Given the description of an element on the screen output the (x, y) to click on. 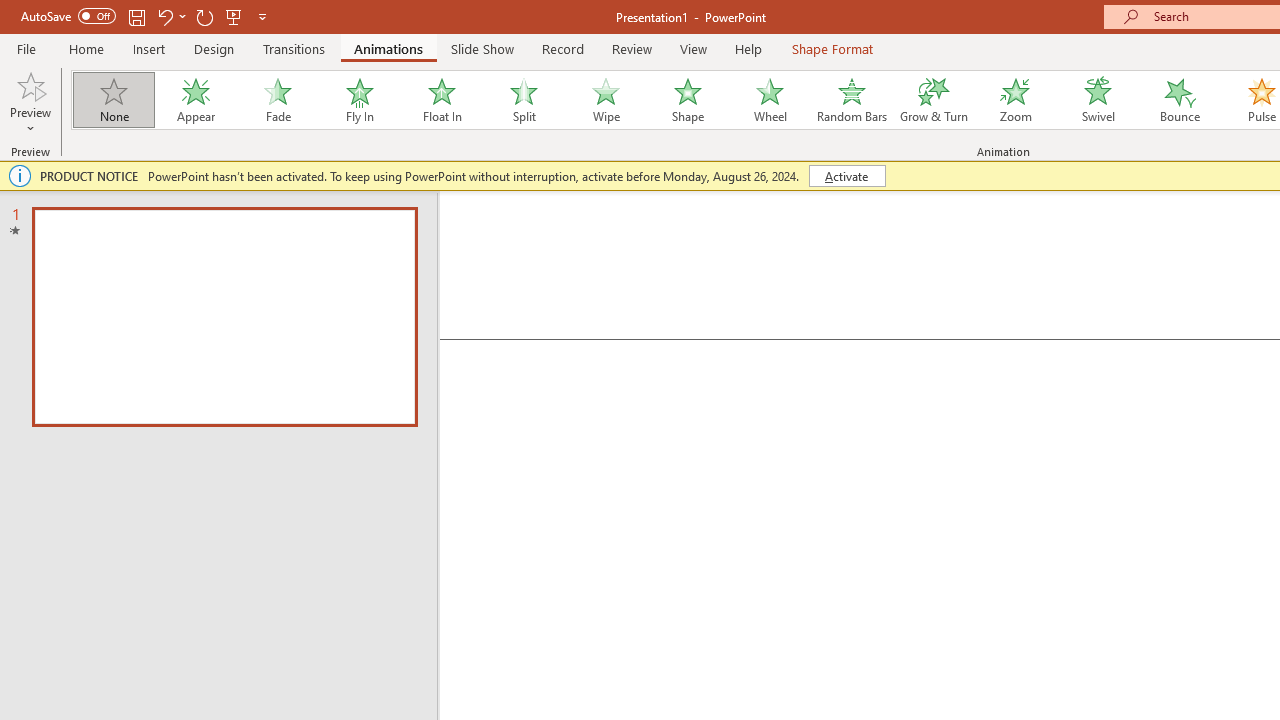
Grow & Turn (934, 100)
Wipe (605, 100)
Appear (195, 100)
